Given the description of an element on the screen output the (x, y) to click on. 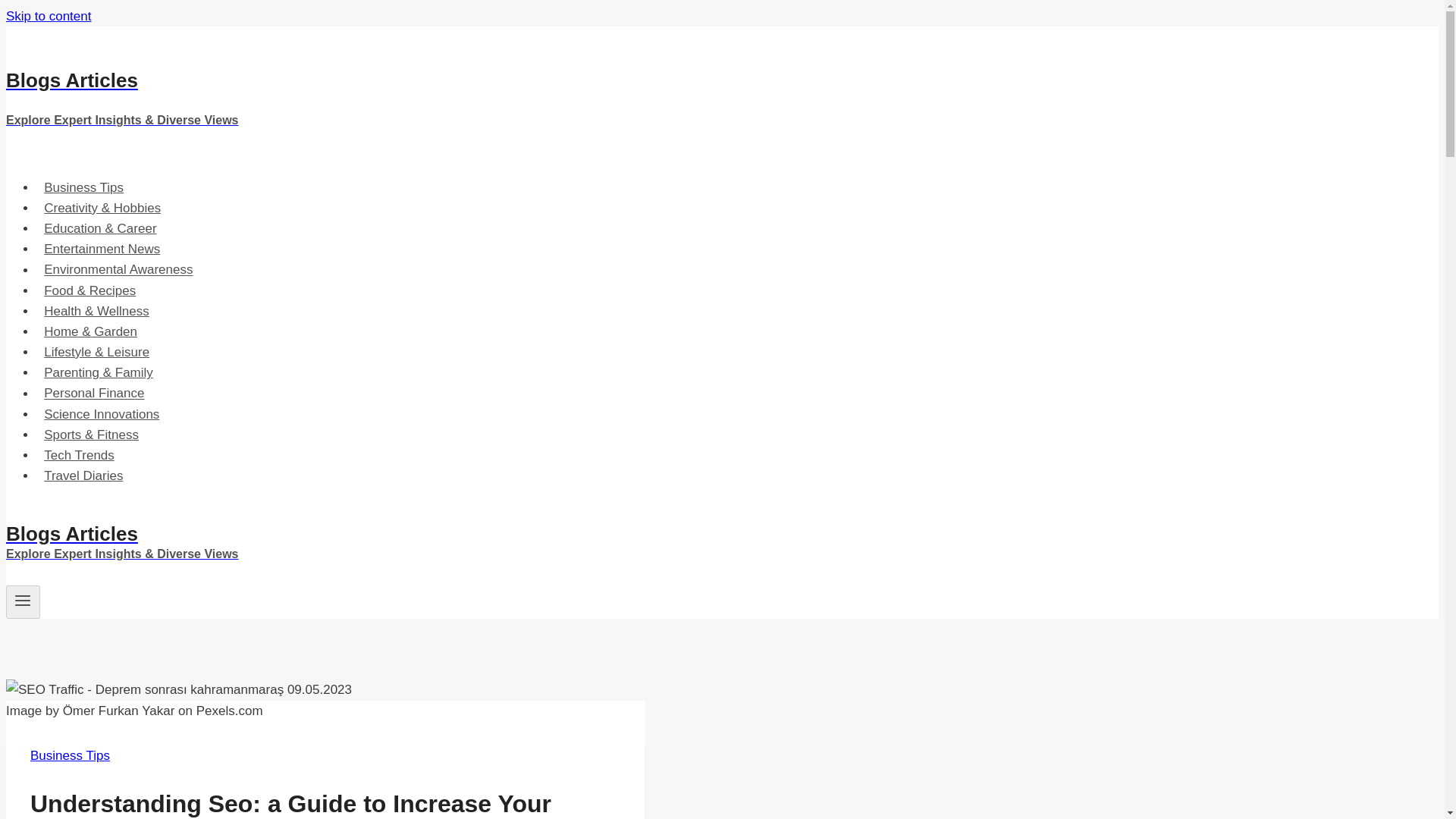
Science Innovations (101, 414)
Skip to content (47, 16)
Environmental Awareness (118, 269)
Entertainment News (101, 248)
Travel Diaries (83, 475)
Skip to content (47, 16)
Business Tips (70, 755)
Toggle Menu (22, 600)
Tech Trends (79, 455)
Business Tips (83, 187)
